Given the description of an element on the screen output the (x, y) to click on. 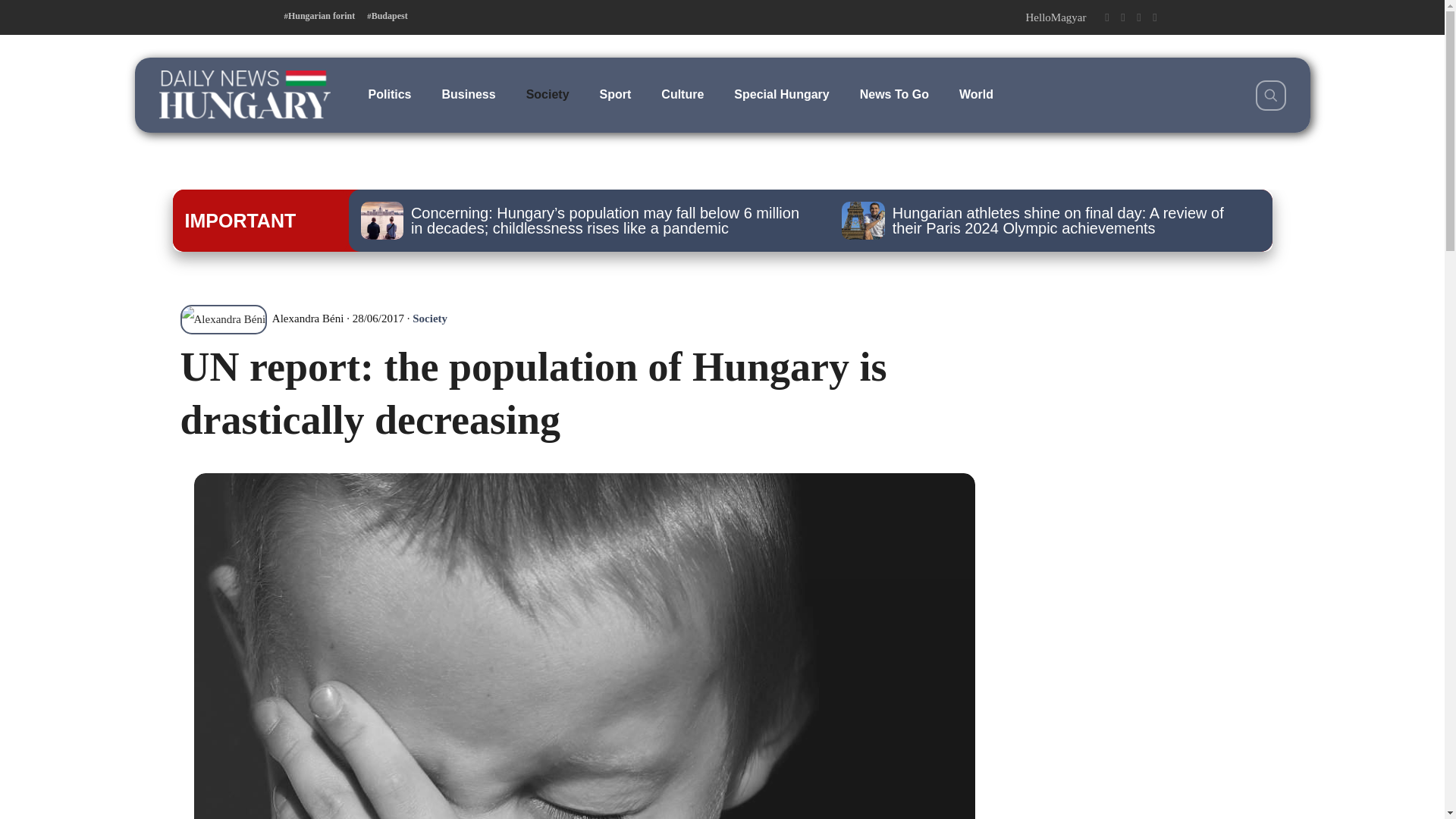
Society (429, 318)
Culture (682, 94)
News To Go (893, 94)
RSS (1155, 17)
Special Hungary (781, 94)
Business (468, 94)
Hungarian forint (319, 15)
Facebook (1106, 17)
Instagram (1138, 17)
Daily News Hungary (244, 94)
